Given the description of an element on the screen output the (x, y) to click on. 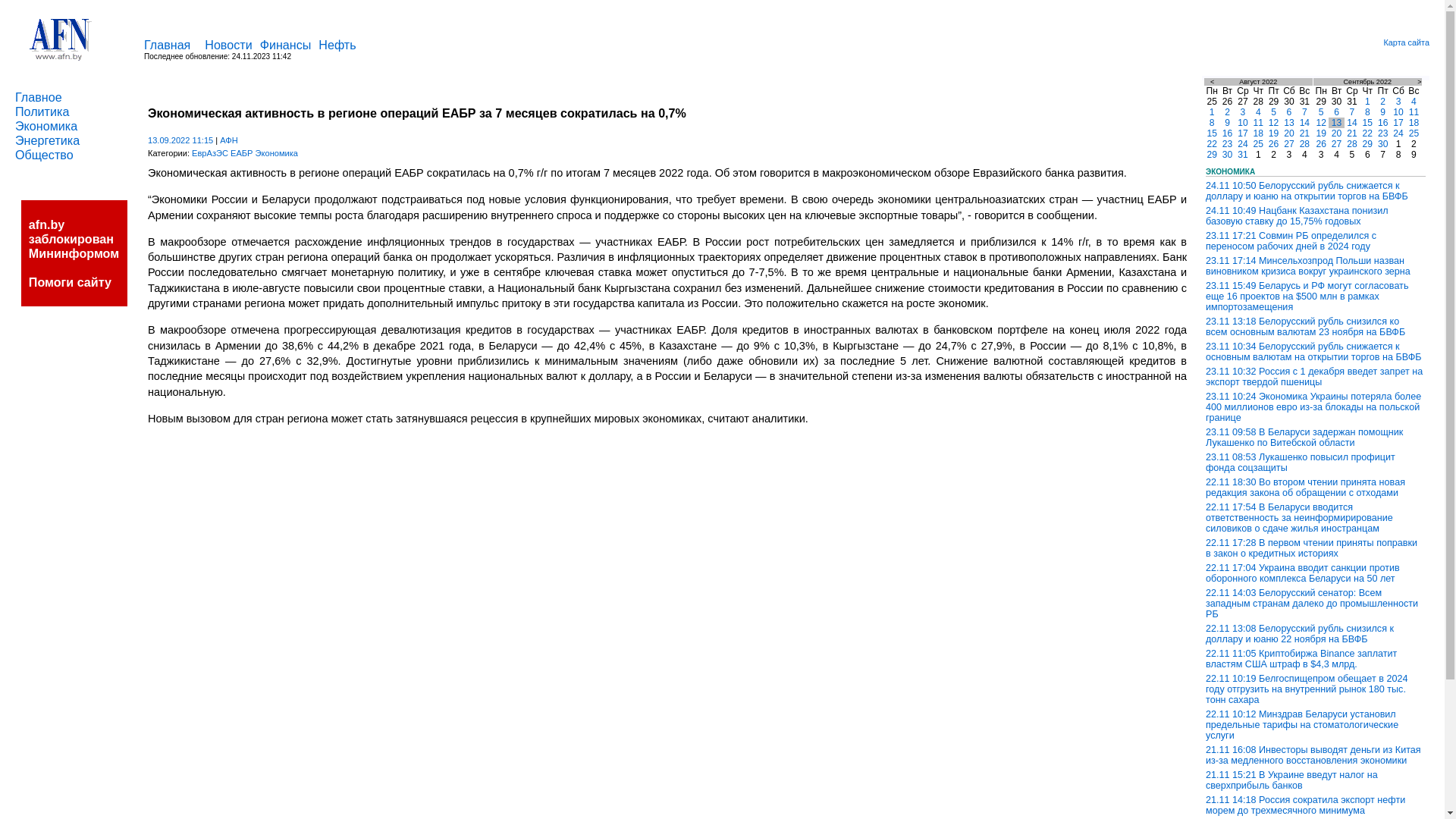
24 Element type: text (1242, 143)
4 Element type: text (1413, 101)
6 Element type: text (1336, 111)
8 Element type: text (1367, 111)
18 Element type: text (1257, 133)
5 Element type: text (1321, 111)
5 Element type: text (1273, 111)
1 Element type: text (1367, 101)
30 Element type: text (1227, 154)
> Element type: text (1419, 81)
27 Element type: text (1288, 143)
19 Element type: text (1320, 133)
2 Element type: text (1227, 111)
16 Element type: text (1382, 122)
10 Element type: text (1242, 122)
28 Element type: text (1351, 143)
30 Element type: text (1382, 143)
27 Element type: text (1336, 143)
12 Element type: text (1273, 122)
11 Element type: text (1413, 111)
26 Element type: text (1273, 143)
25 Element type: text (1257, 143)
7 Element type: text (1304, 111)
29 Element type: text (1211, 154)
9 Element type: text (1227, 122)
24 Element type: text (1398, 133)
13 Element type: text (1336, 122)
28 Element type: text (1304, 143)
21 Element type: text (1351, 133)
20 Element type: text (1336, 133)
15 Element type: text (1211, 133)
26 Element type: text (1320, 143)
15 Element type: text (1367, 122)
3 Element type: text (1398, 101)
13.09.2022 11:15 Element type: text (180, 139)
11 Element type: text (1257, 122)
3 Element type: text (1242, 111)
14 Element type: text (1304, 122)
16 Element type: text (1227, 133)
10 Element type: text (1398, 111)
1 Element type: text (1211, 111)
9 Element type: text (1382, 111)
22 Element type: text (1367, 133)
4 Element type: text (1258, 111)
19 Element type: text (1273, 133)
20 Element type: text (1288, 133)
7 Element type: text (1352, 111)
12 Element type: text (1320, 122)
6 Element type: text (1289, 111)
23 Element type: text (1382, 133)
25 Element type: text (1413, 133)
22 Element type: text (1211, 143)
< Element type: text (1212, 81)
23 Element type: text (1227, 143)
17 Element type: text (1398, 122)
29 Element type: text (1367, 143)
Advertisement Element type: hover (602, 515)
8 Element type: text (1211, 122)
18 Element type: text (1413, 122)
17 Element type: text (1242, 133)
14 Element type: text (1351, 122)
21 Element type: text (1304, 133)
13 Element type: text (1288, 122)
31 Element type: text (1242, 154)
2 Element type: text (1382, 101)
